Given the description of an element on the screen output the (x, y) to click on. 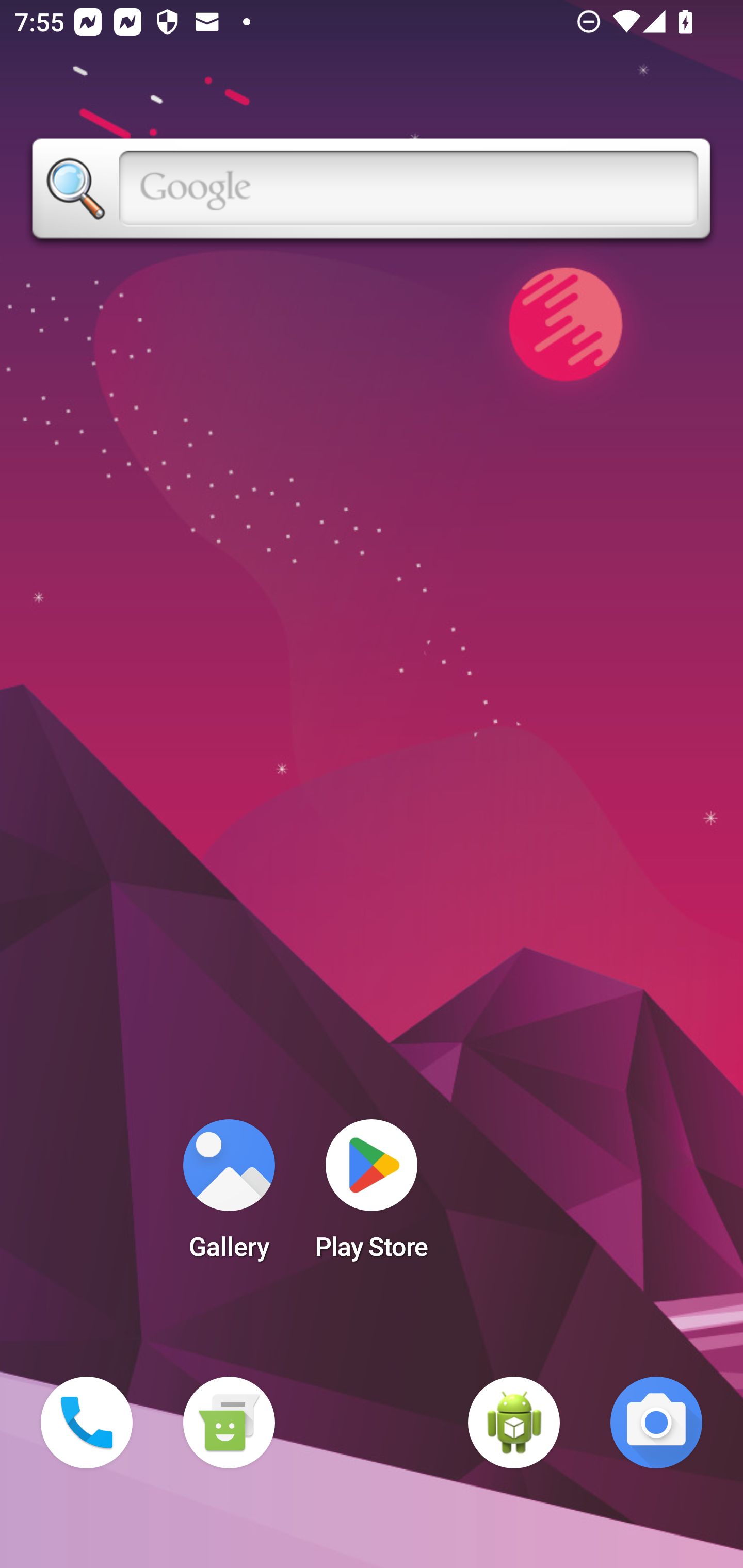
Gallery (228, 1195)
Play Store (371, 1195)
Phone (86, 1422)
Messaging (228, 1422)
WebView Browser Tester (513, 1422)
Camera (656, 1422)
